Given the description of an element on the screen output the (x, y) to click on. 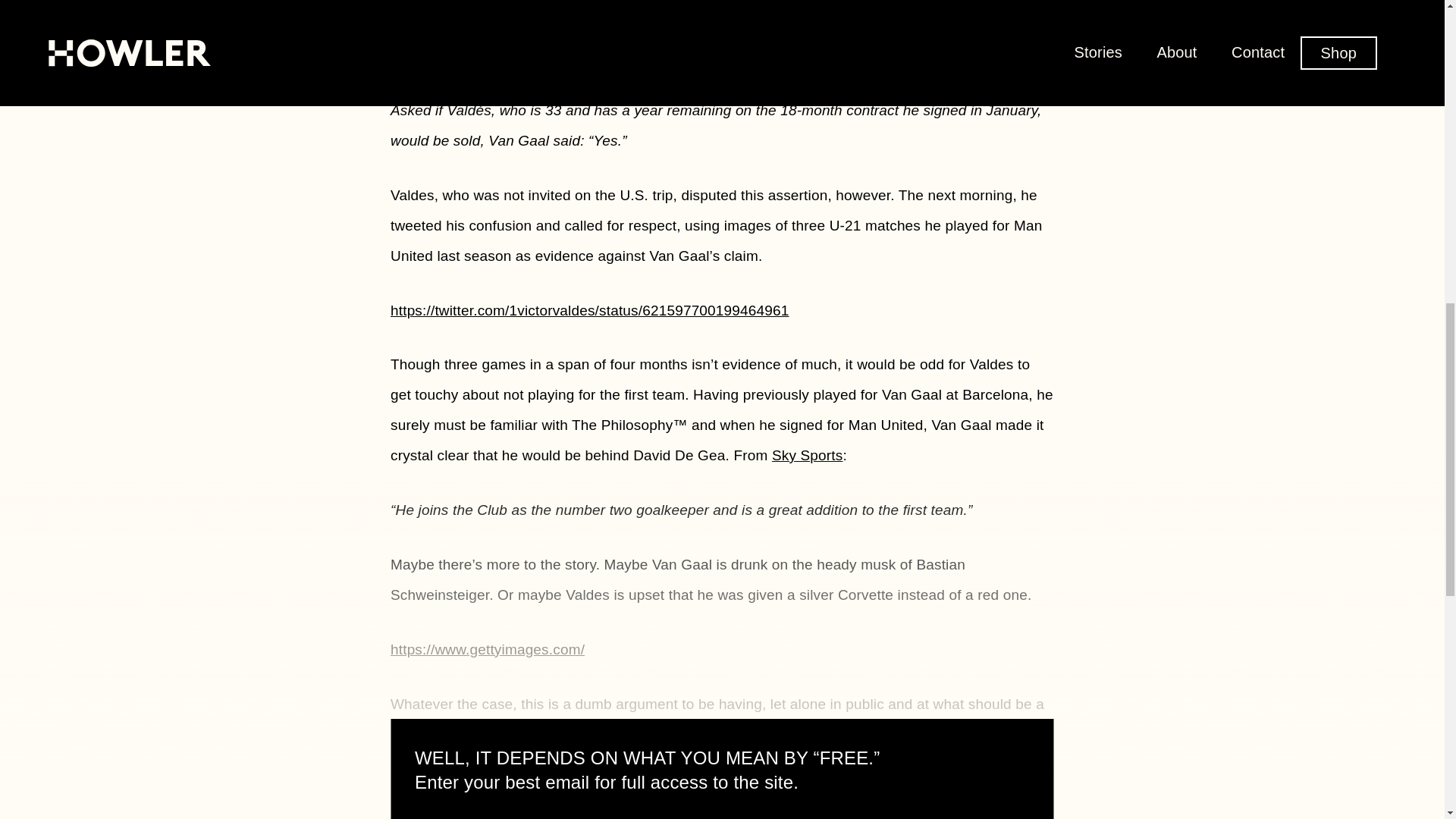
Sky Sports (807, 455)
